Given the description of an element on the screen output the (x, y) to click on. 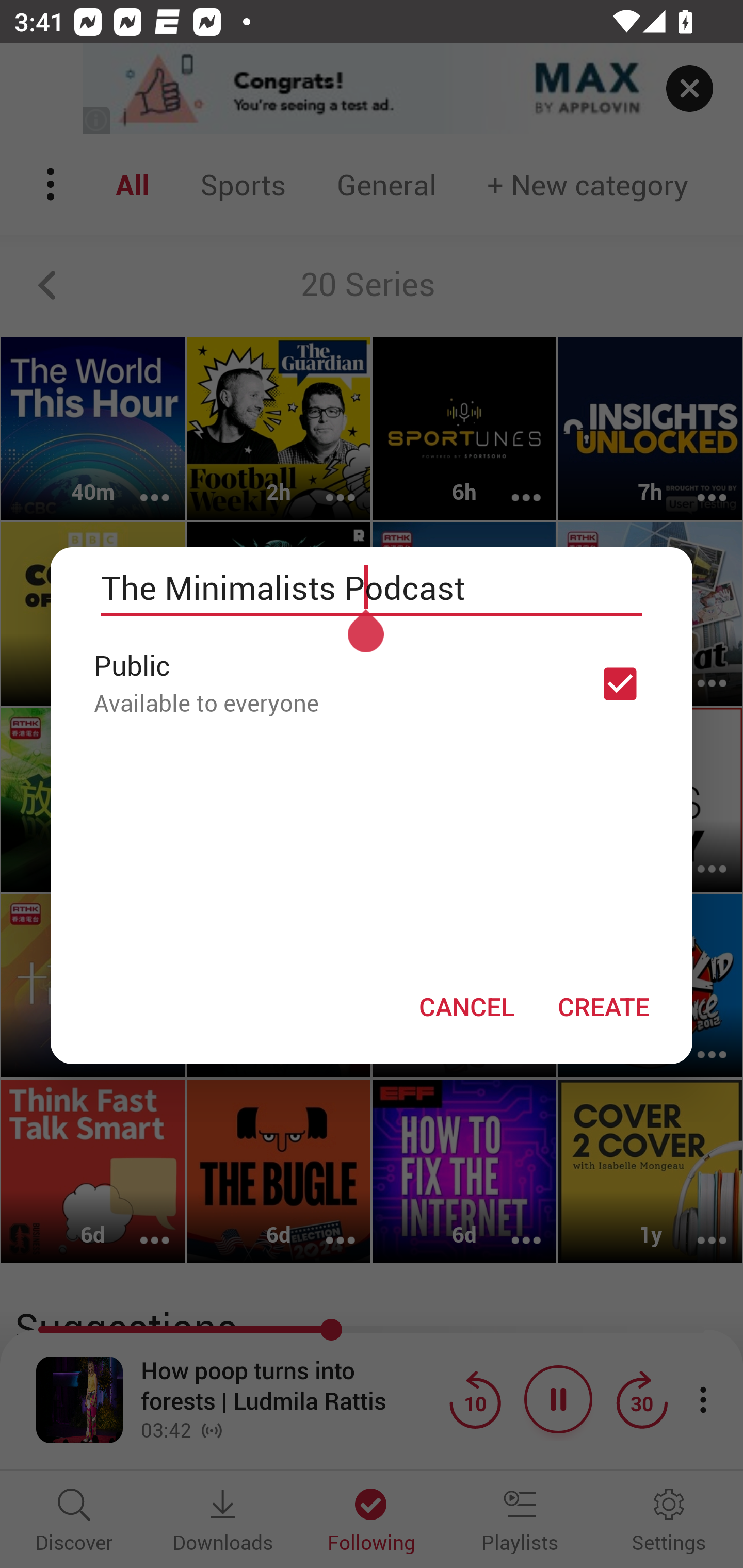
The Minimalists Podcast (371, 587)
Public Available to everyone (371, 683)
CANCEL (465, 1005)
CREATE (602, 1005)
